Given the description of an element on the screen output the (x, y) to click on. 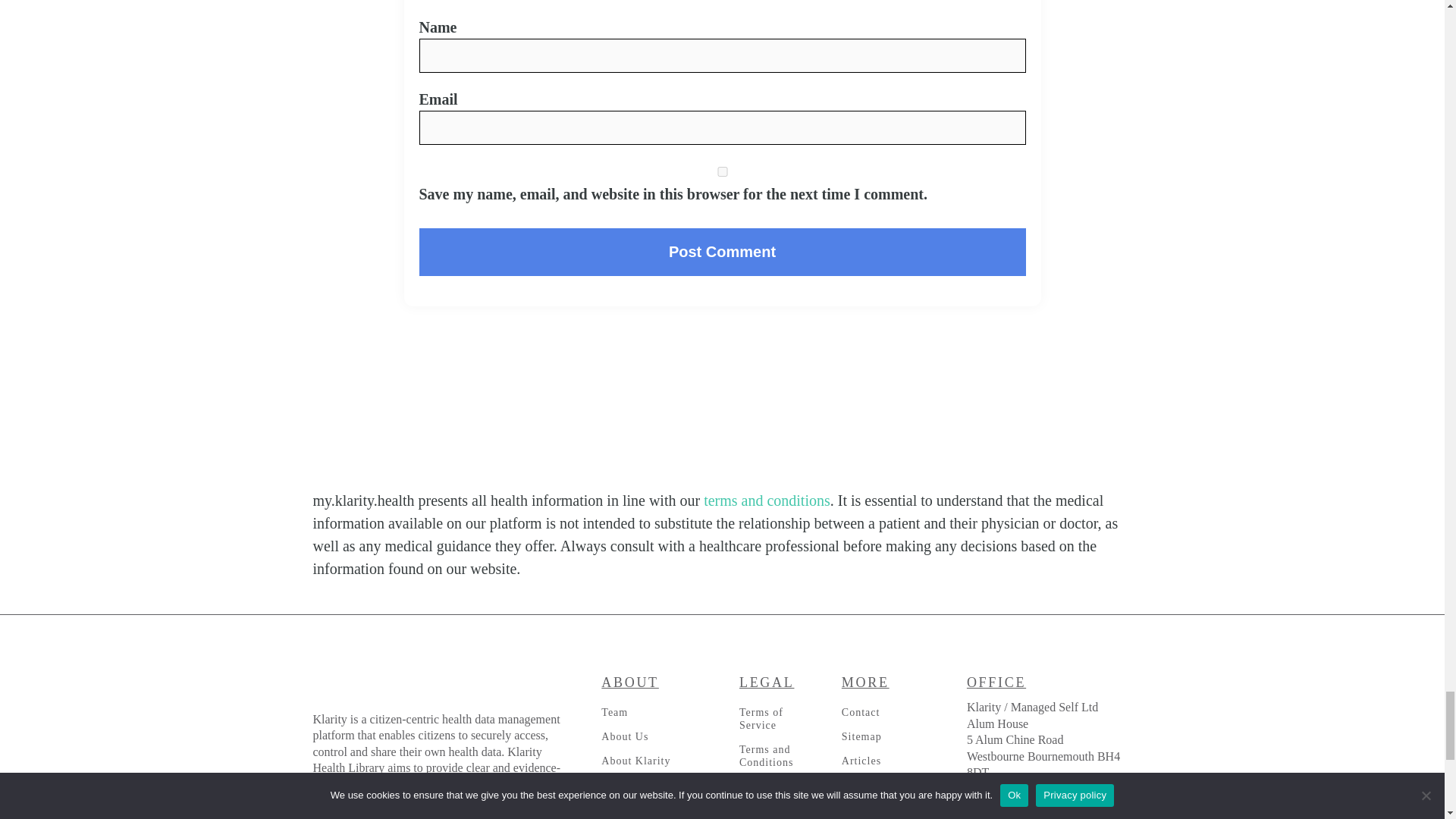
yes (722, 171)
Post Comment (722, 252)
